Given the description of an element on the screen output the (x, y) to click on. 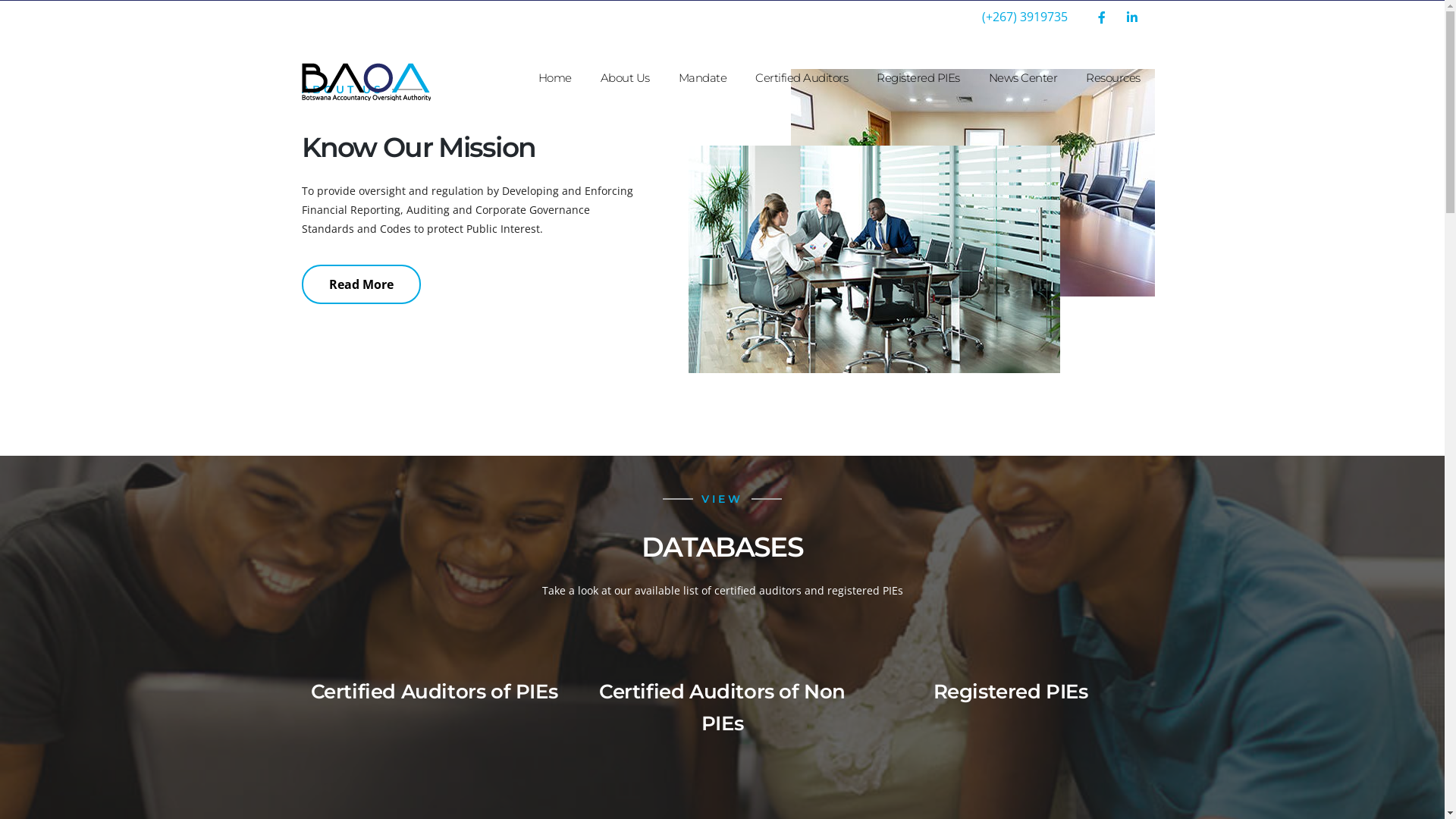
Mandate Element type: text (702, 78)
Home Element type: text (554, 78)
About Us Element type: text (624, 78)
Certified Auditors Element type: text (801, 78)
Read More Element type: text (360, 284)
Under Element type: hover (972, 182)
News Center Element type: text (1022, 78)
Registered PIEs Element type: text (918, 78)
Top Element type: hover (874, 259)
Resources Element type: text (1112, 78)
